Given the description of an element on the screen output the (x, y) to click on. 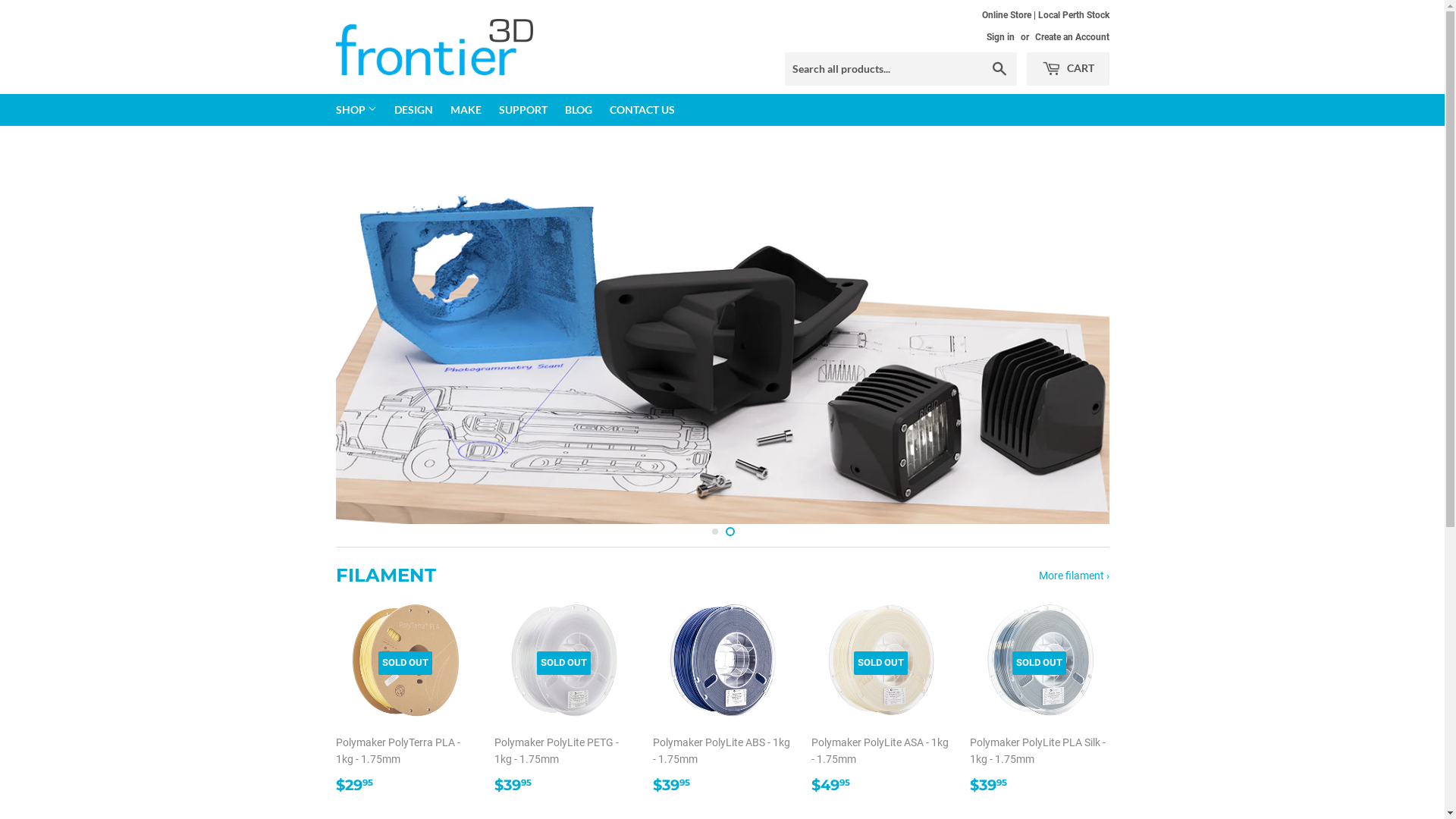
Create an Account Element type: text (1071, 36)
DESIGN Element type: text (413, 109)
CART Element type: text (1067, 68)
Search Element type: text (999, 69)
CONTACT US Element type: text (642, 109)
2 Element type: text (729, 453)
BLOG Element type: text (577, 109)
1 Element type: text (713, 450)
SUPPORT Element type: text (523, 109)
MAKE Element type: text (465, 109)
Sign in Element type: text (999, 36)
SHOP Element type: text (355, 109)
